Given the description of an element on the screen output the (x, y) to click on. 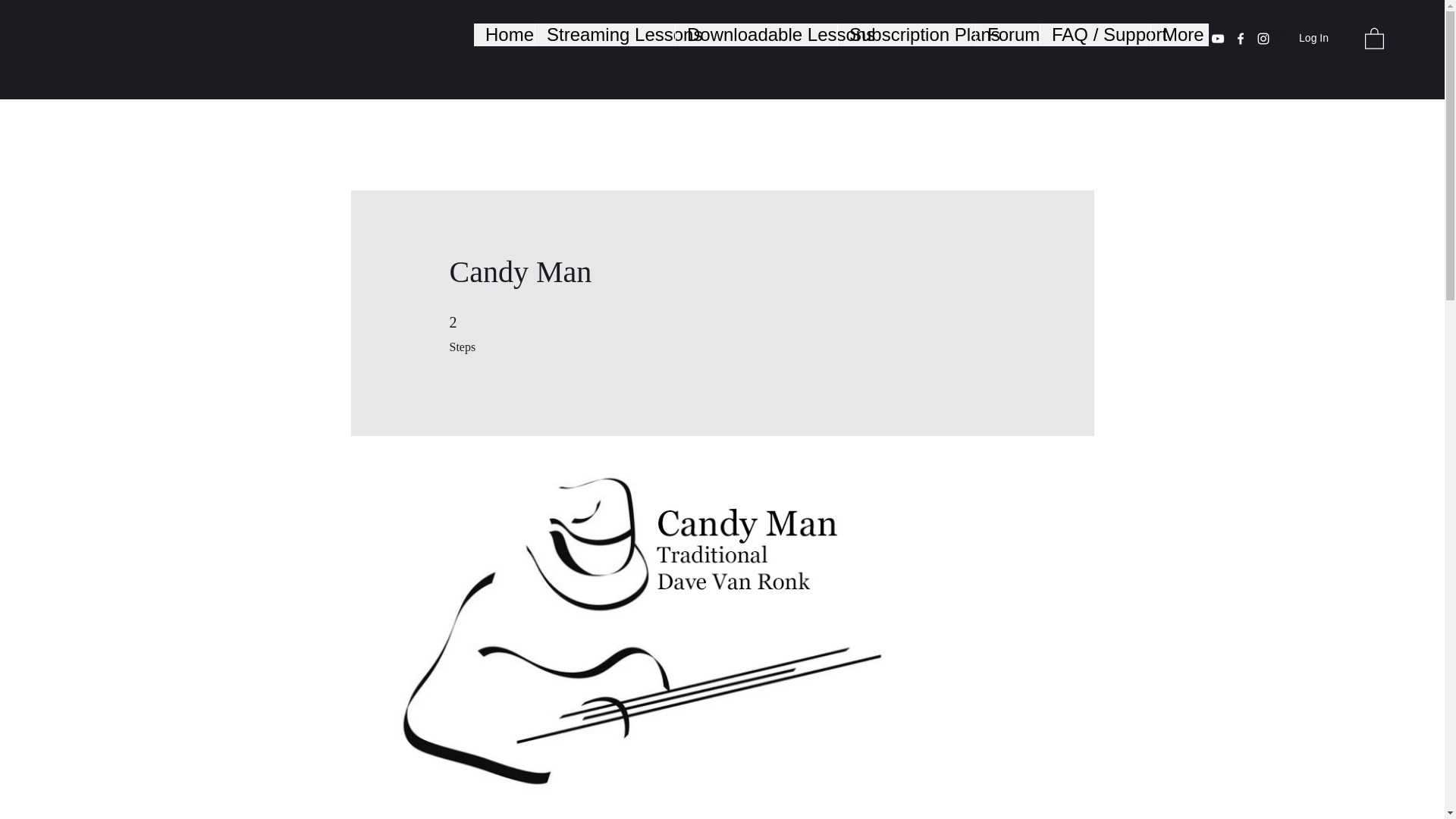
Log In (1299, 38)
Downloadable Lessons (756, 34)
Subscription Plans (906, 34)
Forum (1007, 34)
Streaming Lessons (604, 34)
Home (504, 34)
